Given the description of an element on the screen output the (x, y) to click on. 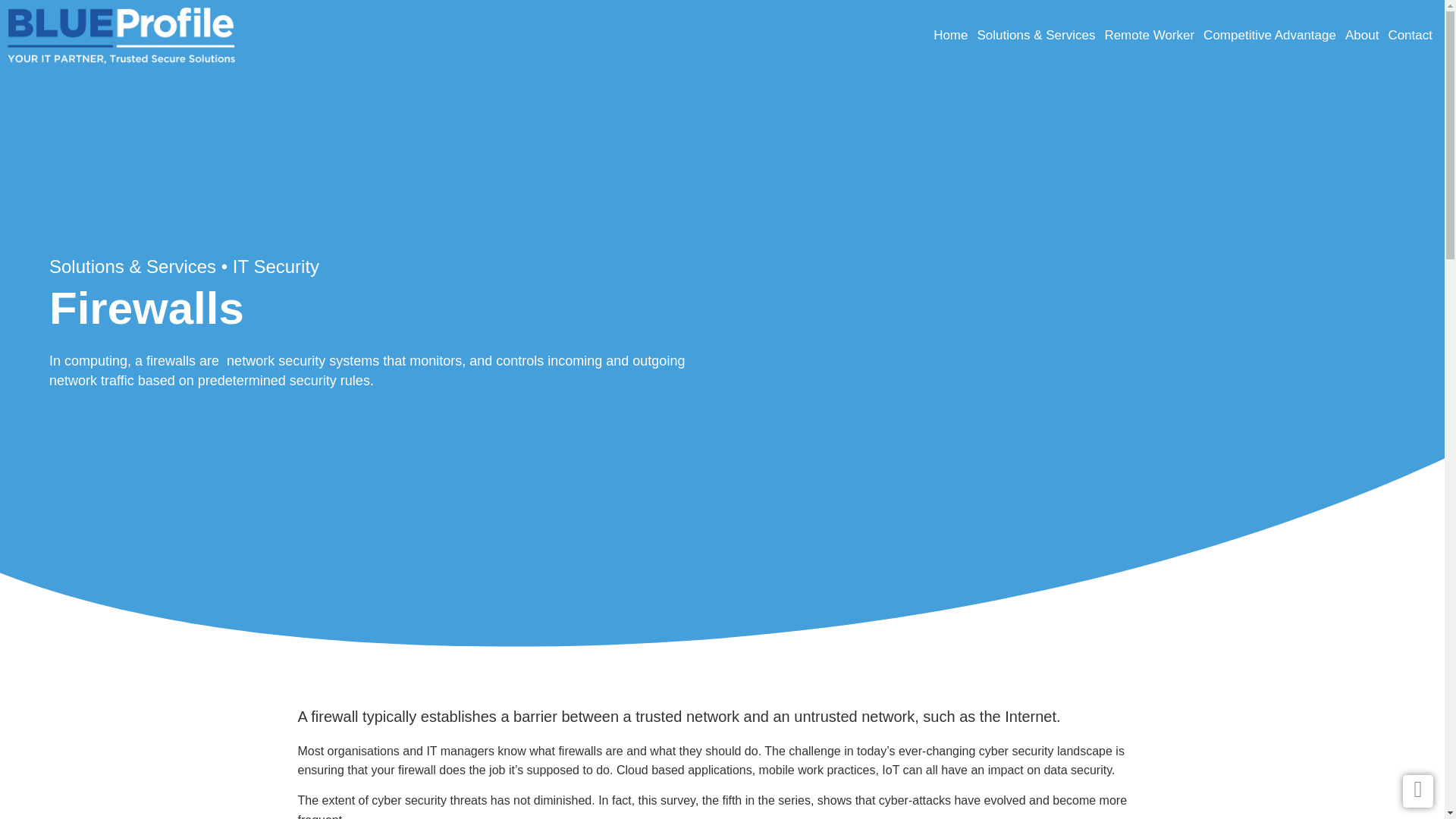
About (1361, 35)
Contact (1410, 35)
Competitive Advantage (1269, 35)
Remote Worker (1148, 35)
Home (950, 35)
